Given the description of an element on the screen output the (x, y) to click on. 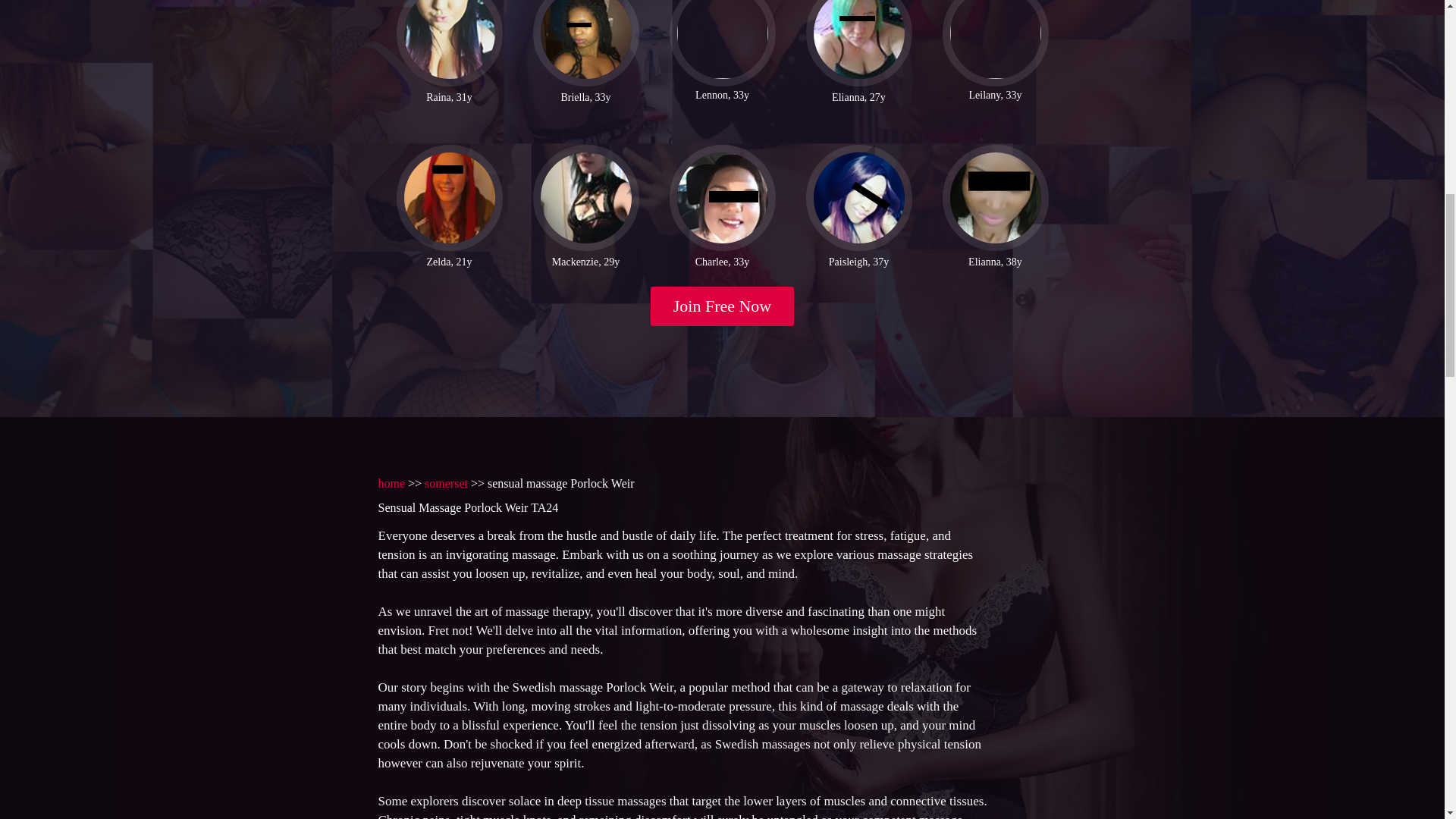
somerset (446, 482)
home (390, 482)
Join Free Now (722, 305)
Join (722, 305)
